Given the description of an element on the screen output the (x, y) to click on. 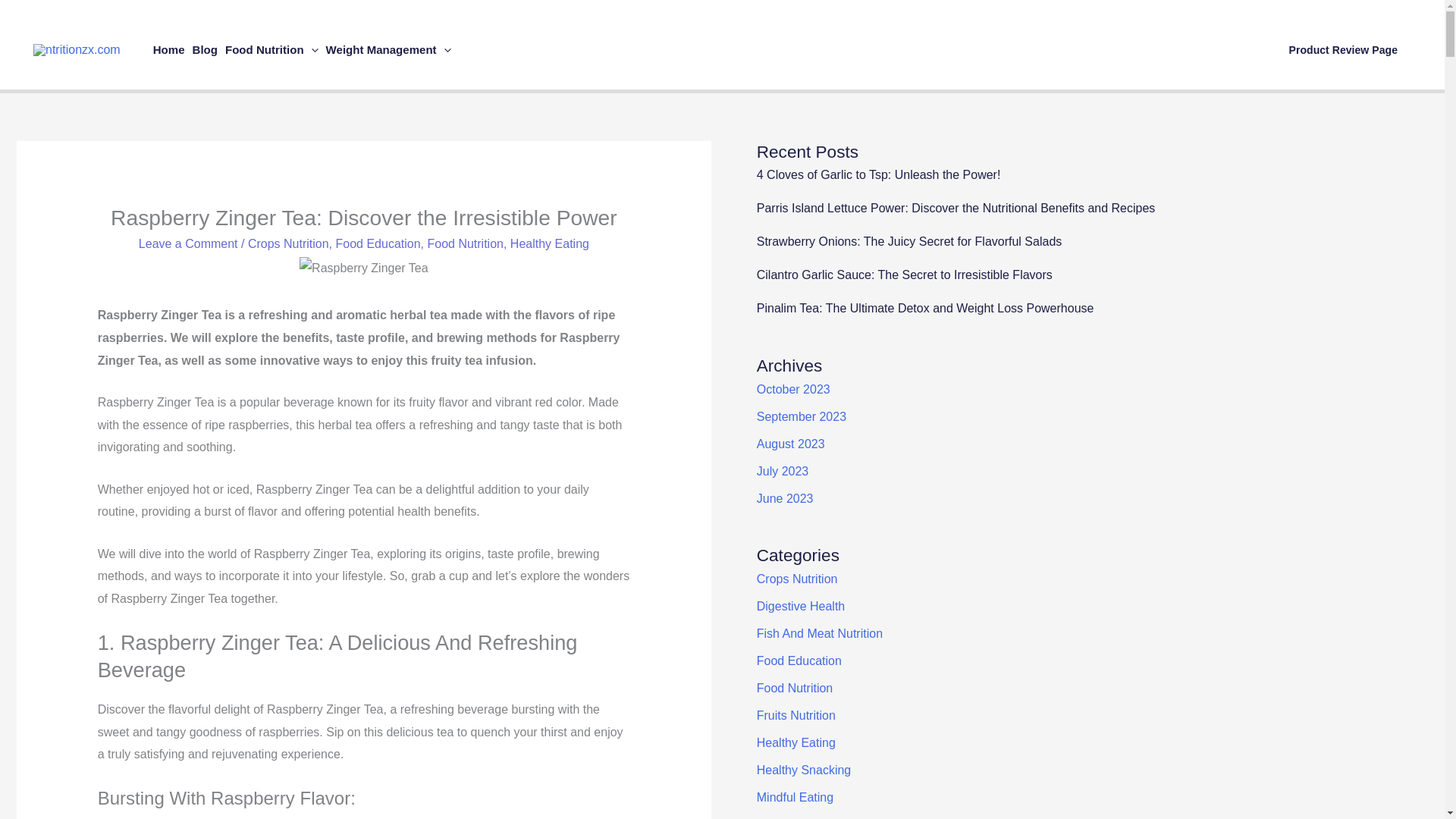
Weight Management (387, 49)
Leave a Comment (188, 243)
Home (169, 49)
Food Nutrition (271, 49)
Product Review Page (1343, 50)
Crops Nutrition (288, 243)
Blog (205, 49)
